Given the description of an element on the screen output the (x, y) to click on. 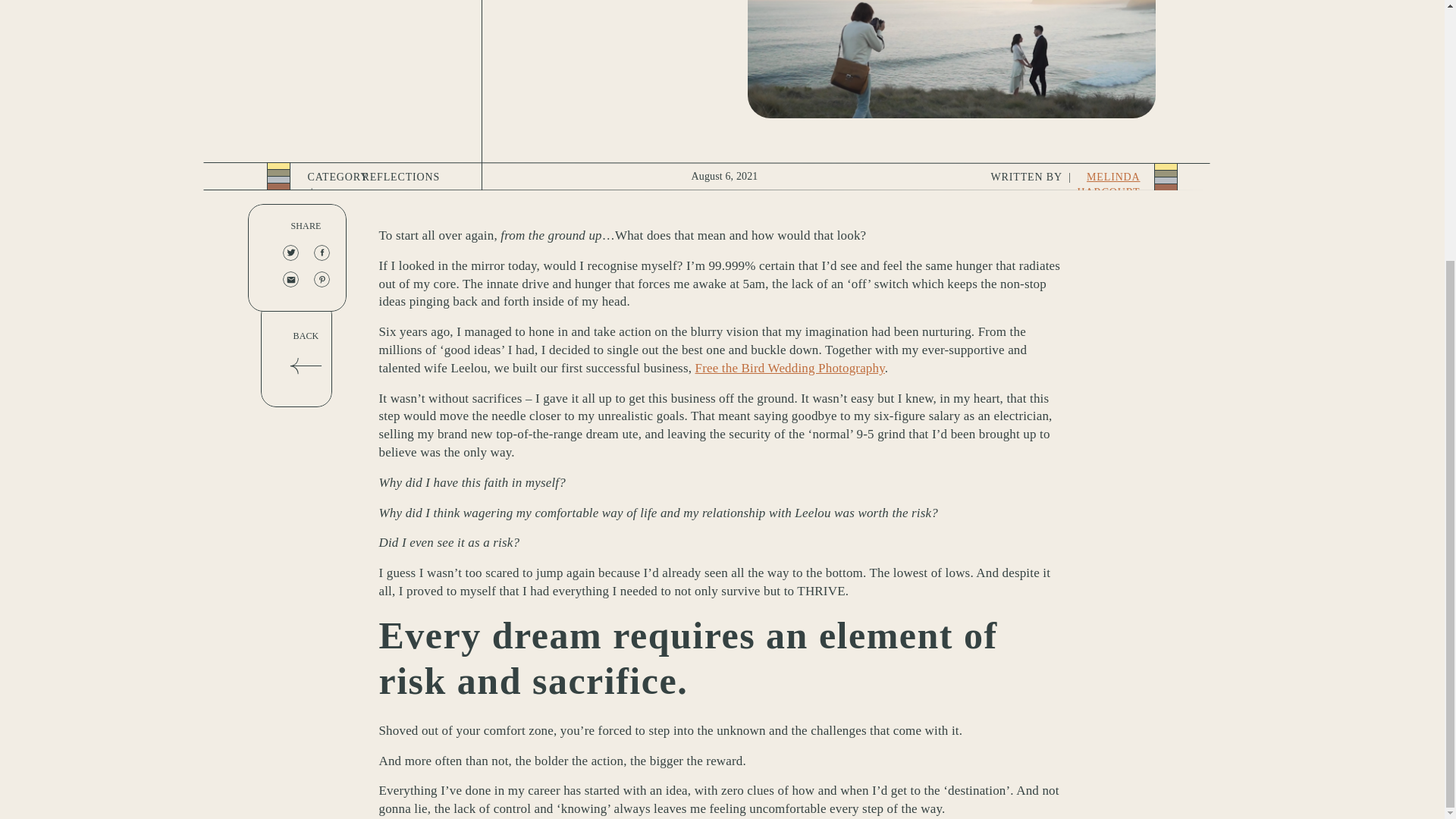
REFLECTIONS (401, 176)
Free the Bird Wedding Photography (790, 368)
MELINDA HARCOURT (1108, 184)
